Given the description of an element on the screen output the (x, y) to click on. 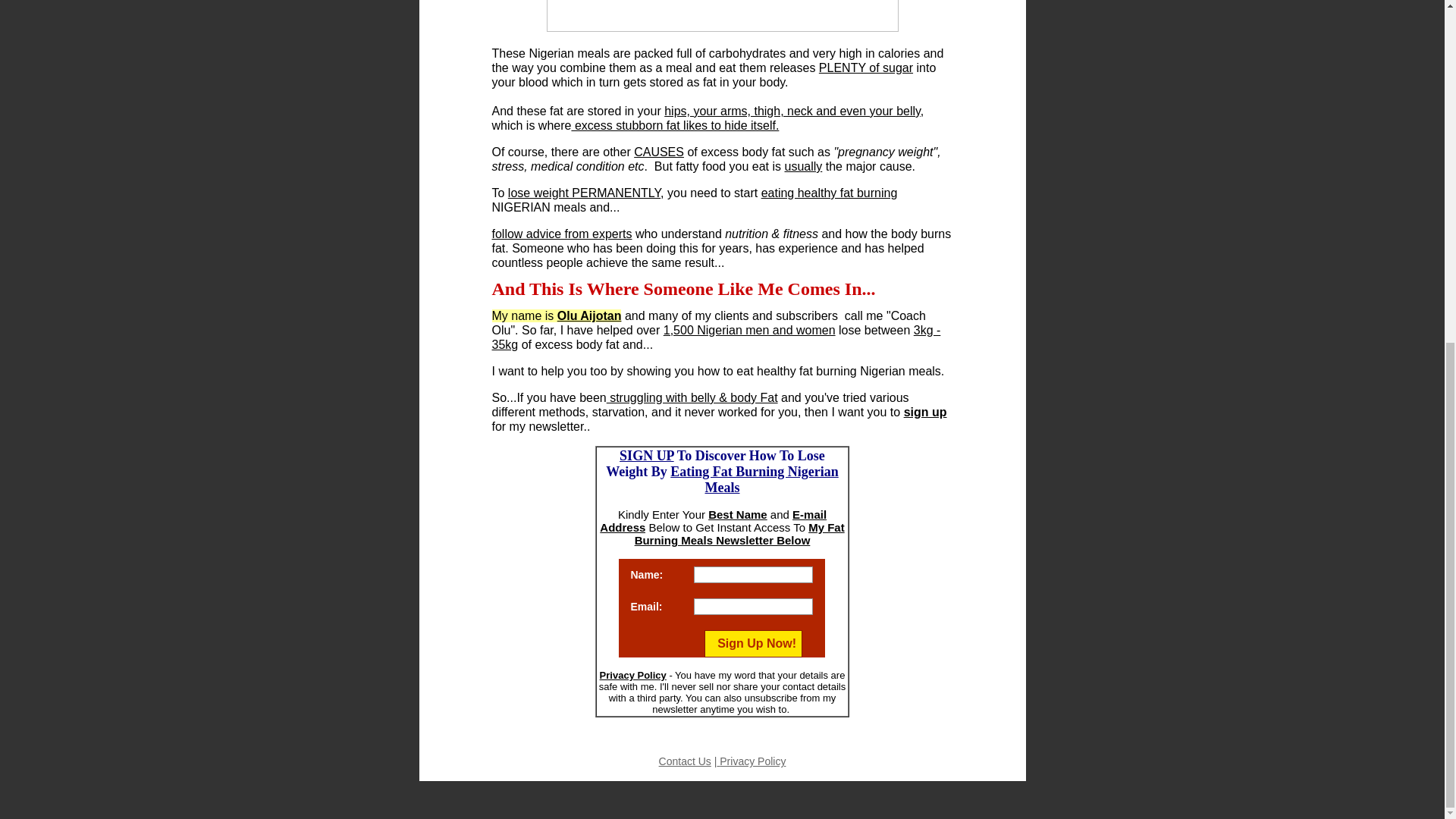
Sign Up Now! (753, 643)
Contact Us (685, 761)
Sign Up Now! (753, 643)
 Privacy Policy (751, 761)
